Given the description of an element on the screen output the (x, y) to click on. 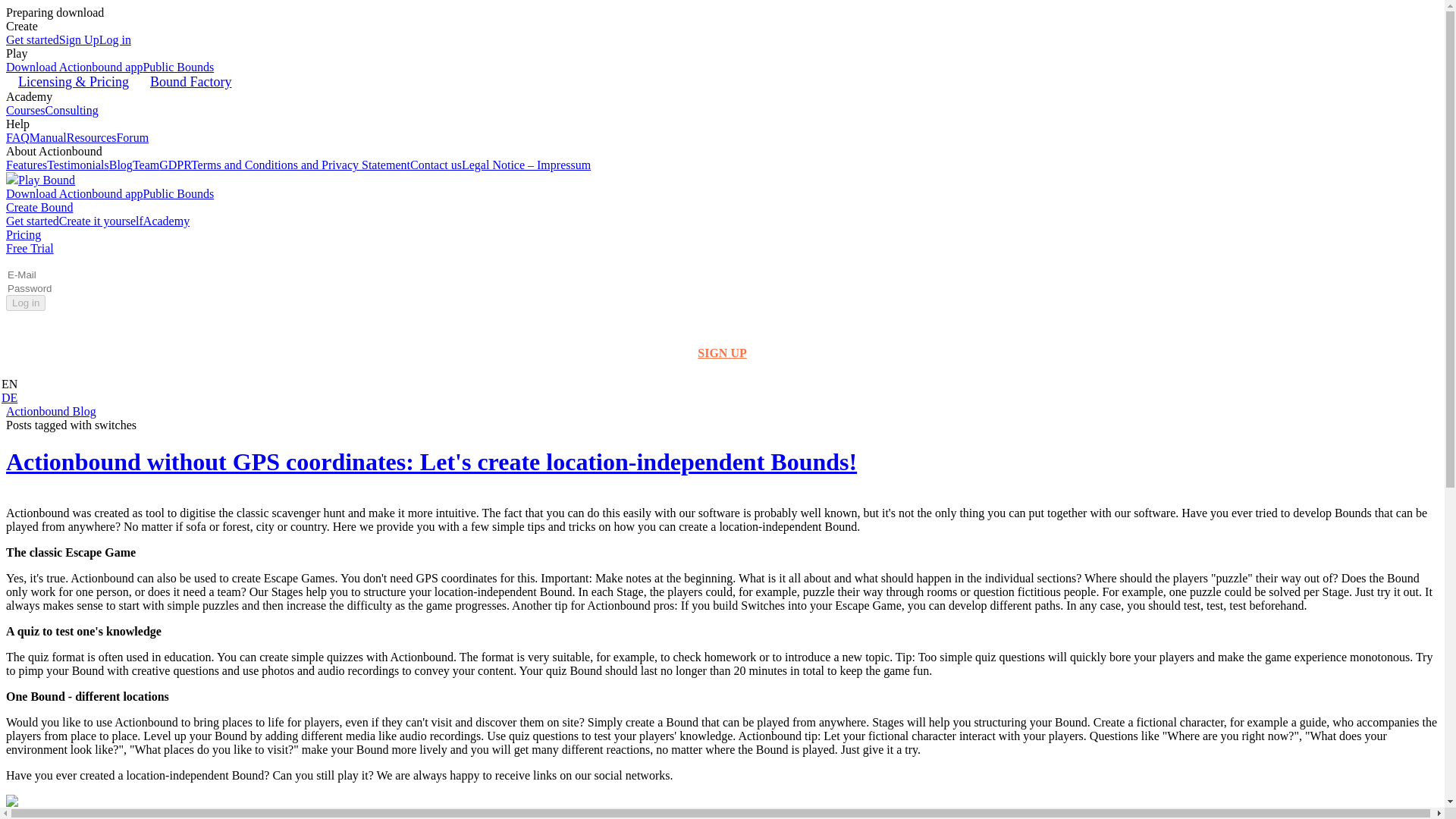
DE (9, 397)
Log in (115, 39)
Download Actionbound app (73, 193)
Consulting (72, 110)
Download Actionbound app (73, 66)
Courses (25, 110)
Manual (47, 137)
GDPR (174, 164)
Terms and Conditions and Privacy Statement (300, 164)
LOST PASSWORD (721, 328)
Sign Up (79, 39)
Get started (32, 220)
Bound Factory (189, 82)
Public Bounds (178, 66)
